Given the description of an element on the screen output the (x, y) to click on. 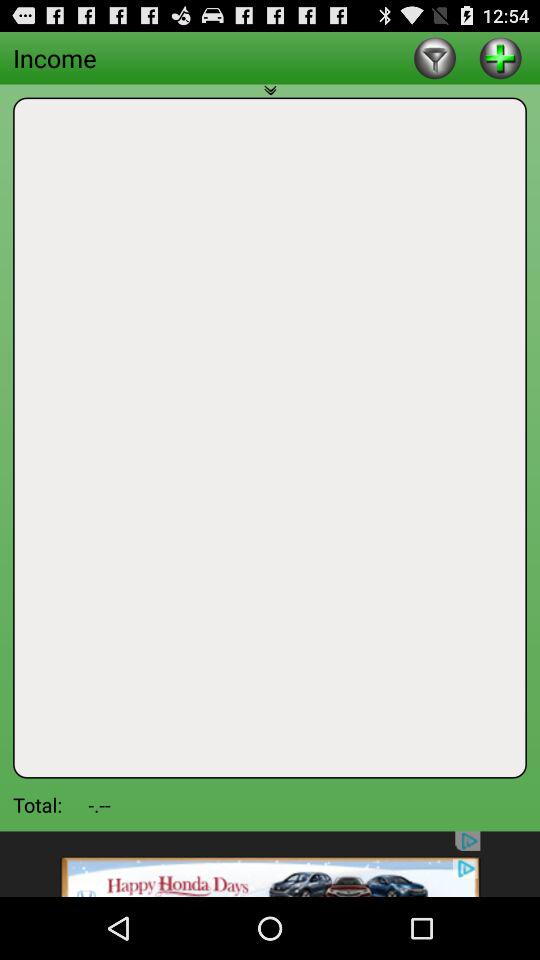
create new (500, 57)
